Given the description of an element on the screen output the (x, y) to click on. 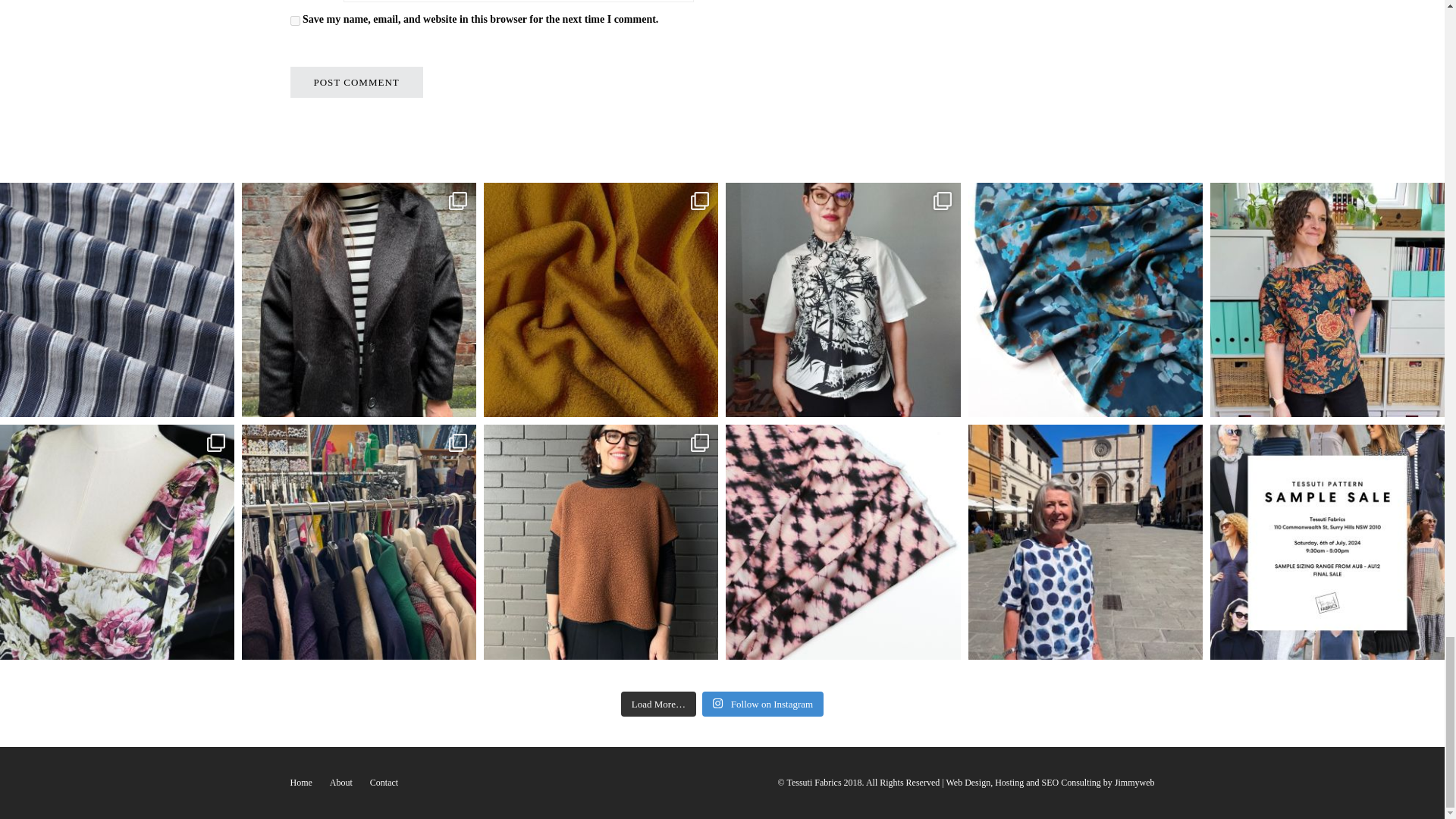
Post comment (355, 81)
yes (294, 20)
